Given the description of an element on the screen output the (x, y) to click on. 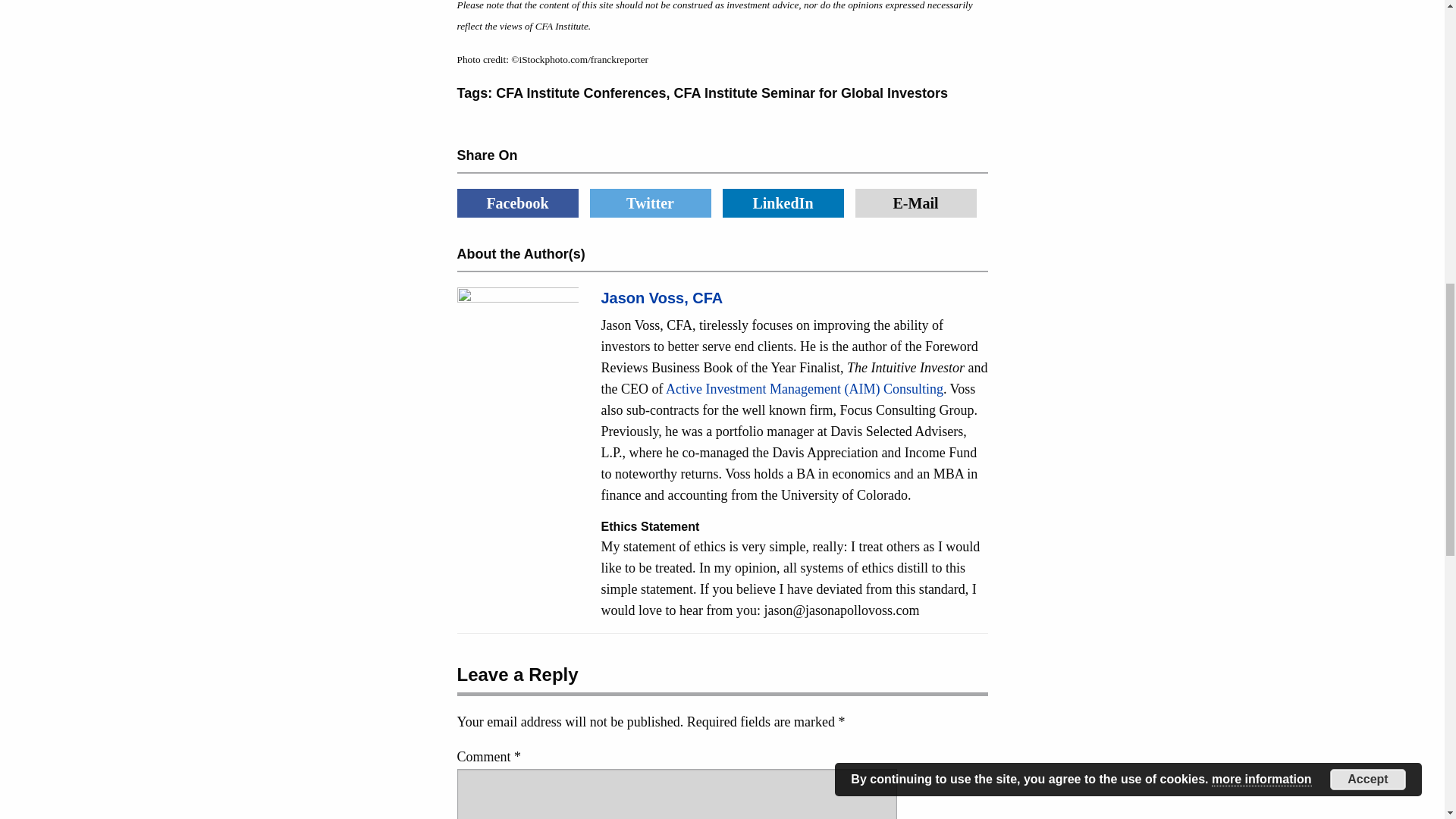
Twitter (650, 203)
Facebook (517, 203)
LinkedIn (782, 203)
CFA Institute Conferences (580, 92)
CFA Institute Seminar for Global Investors (810, 92)
E-Mail (916, 203)
Jason Voss, CFA (660, 297)
